Given the description of an element on the screen output the (x, y) to click on. 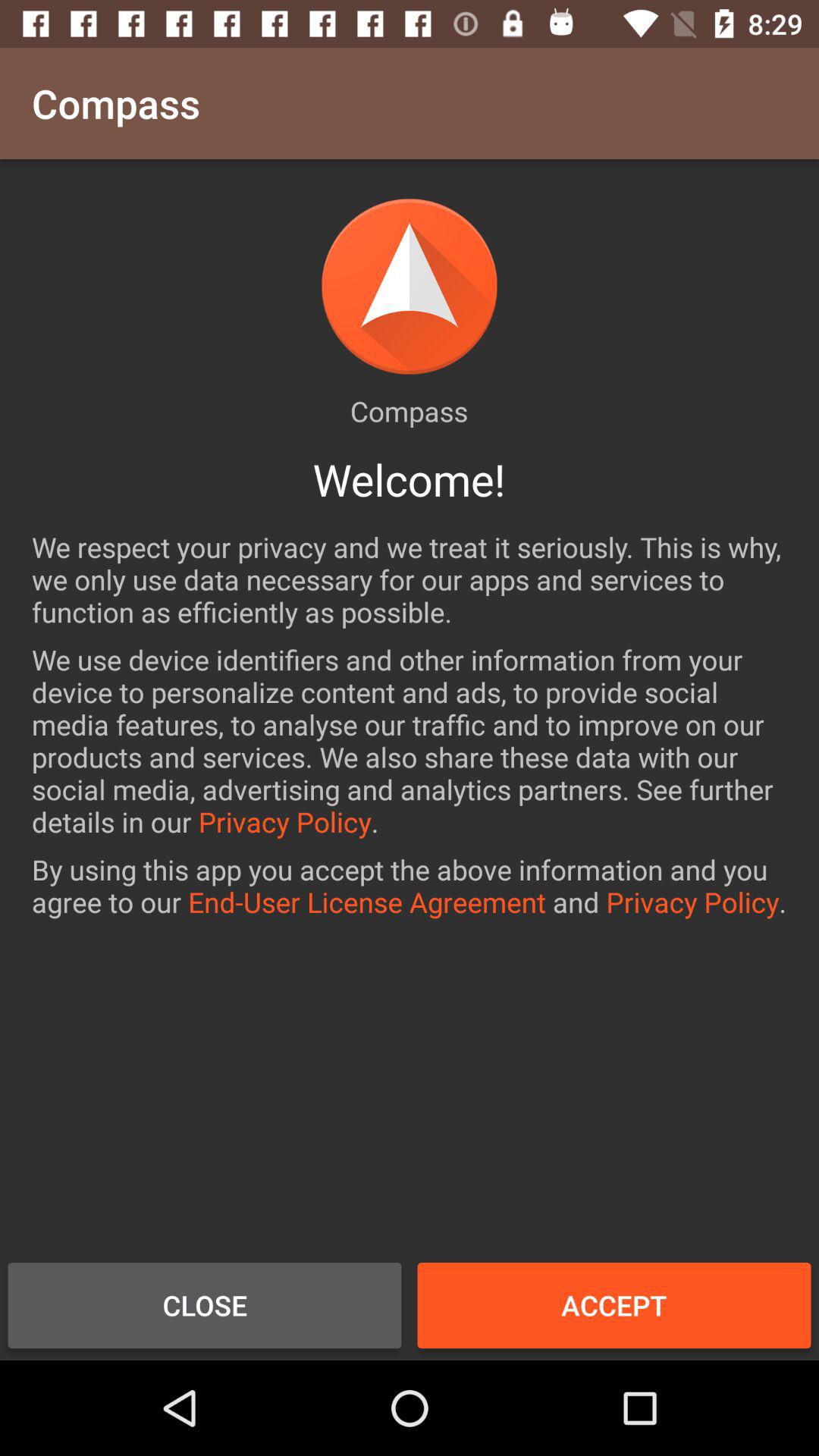
click icon below the by using this item (204, 1305)
